Given the description of an element on the screen output the (x, y) to click on. 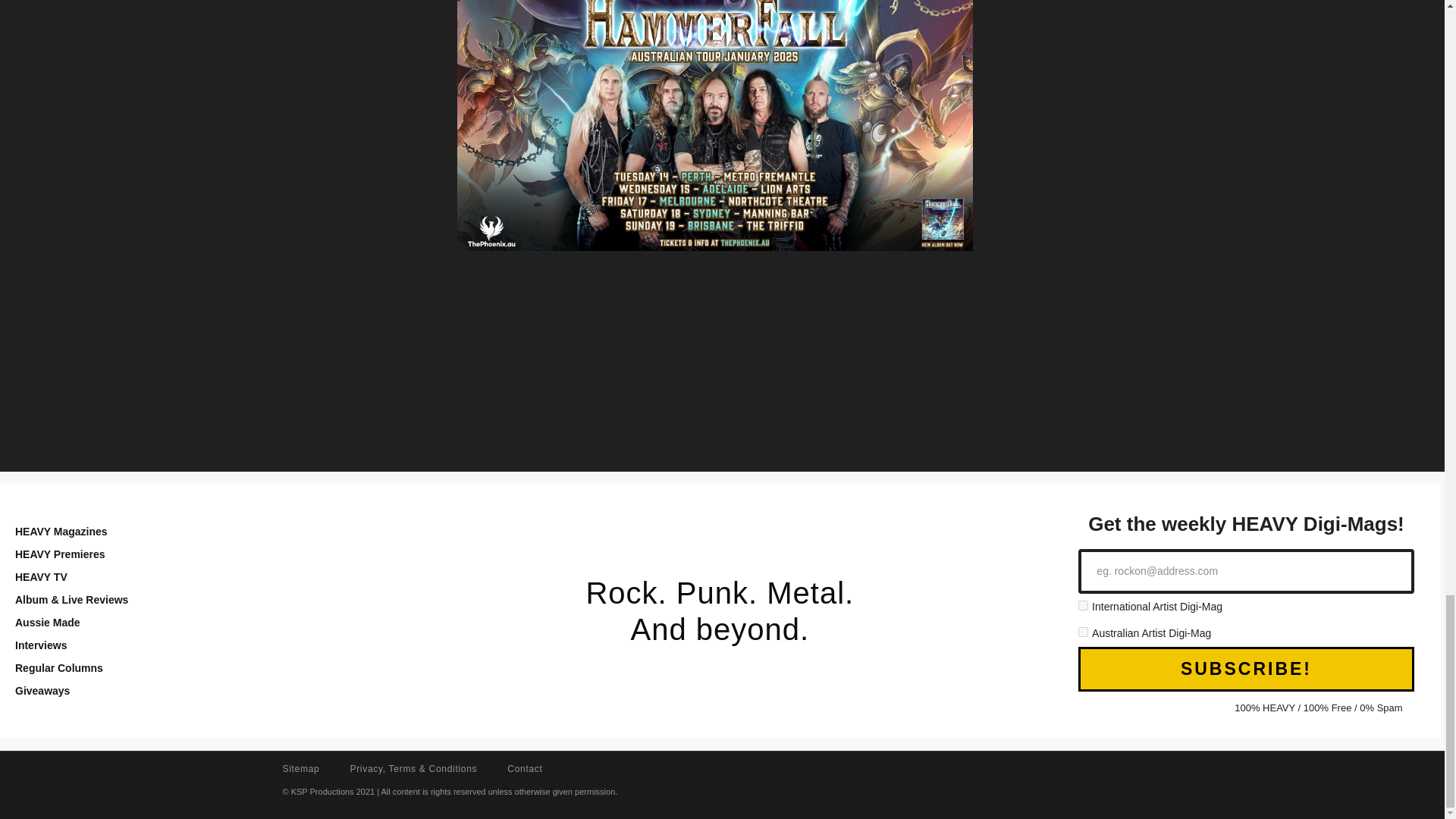
  Australian Artist Digi-Mag (1082, 632)
  International Artist Digi-Mag (1082, 605)
